Given the description of an element on the screen output the (x, y) to click on. 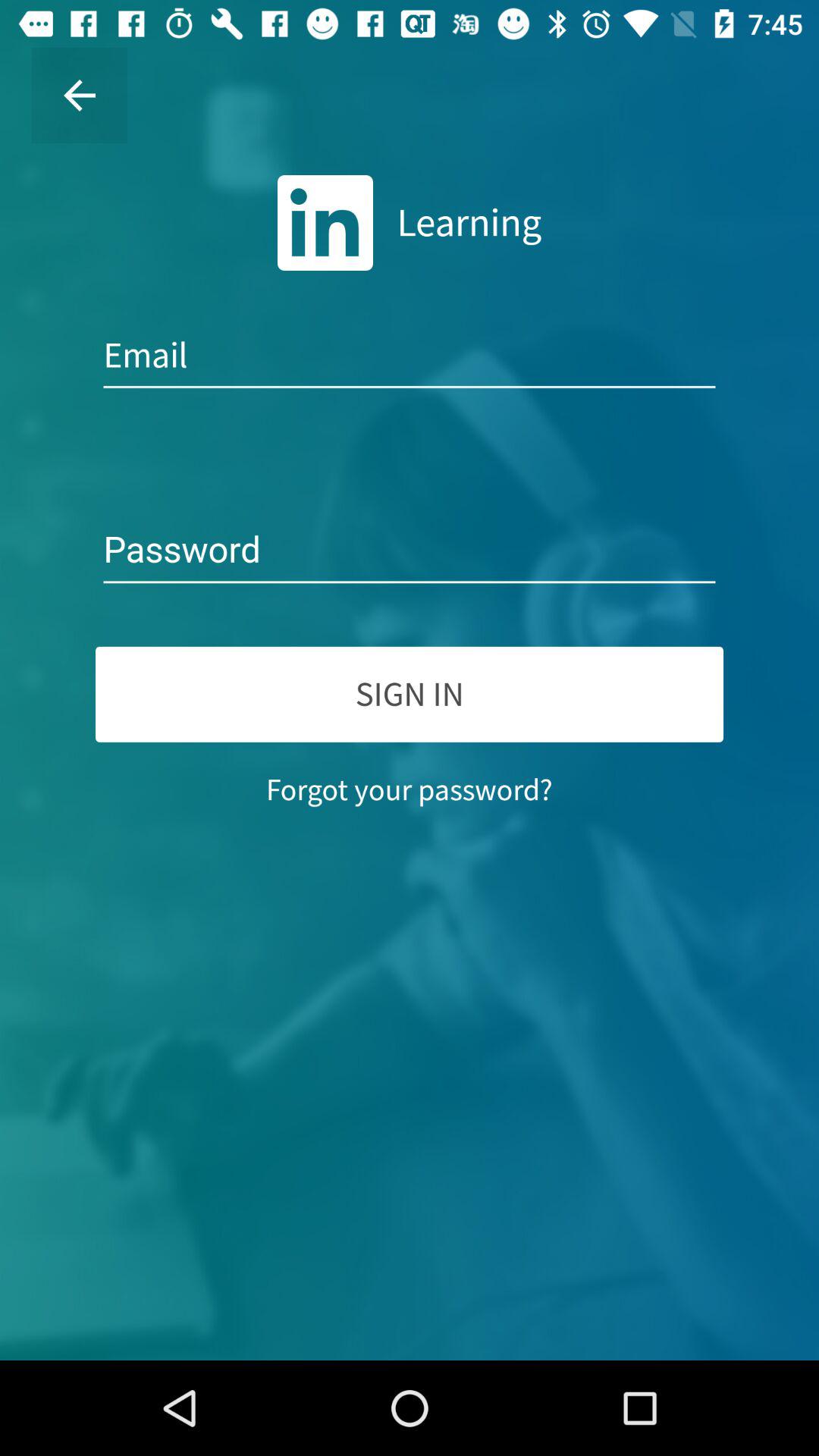
turn off the forgot your password? icon (409, 789)
